Given the description of an element on the screen output the (x, y) to click on. 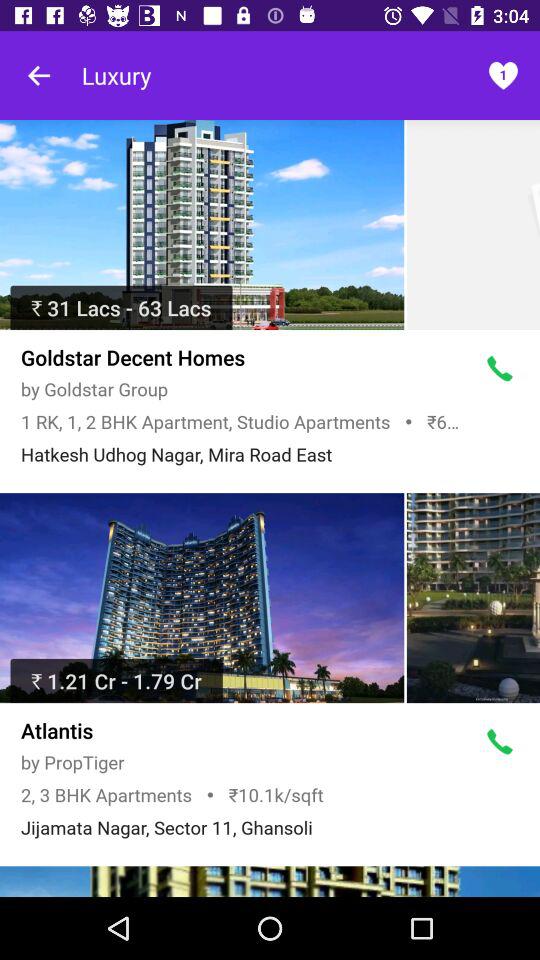
go to previous (39, 75)
